Given the description of an element on the screen output the (x, y) to click on. 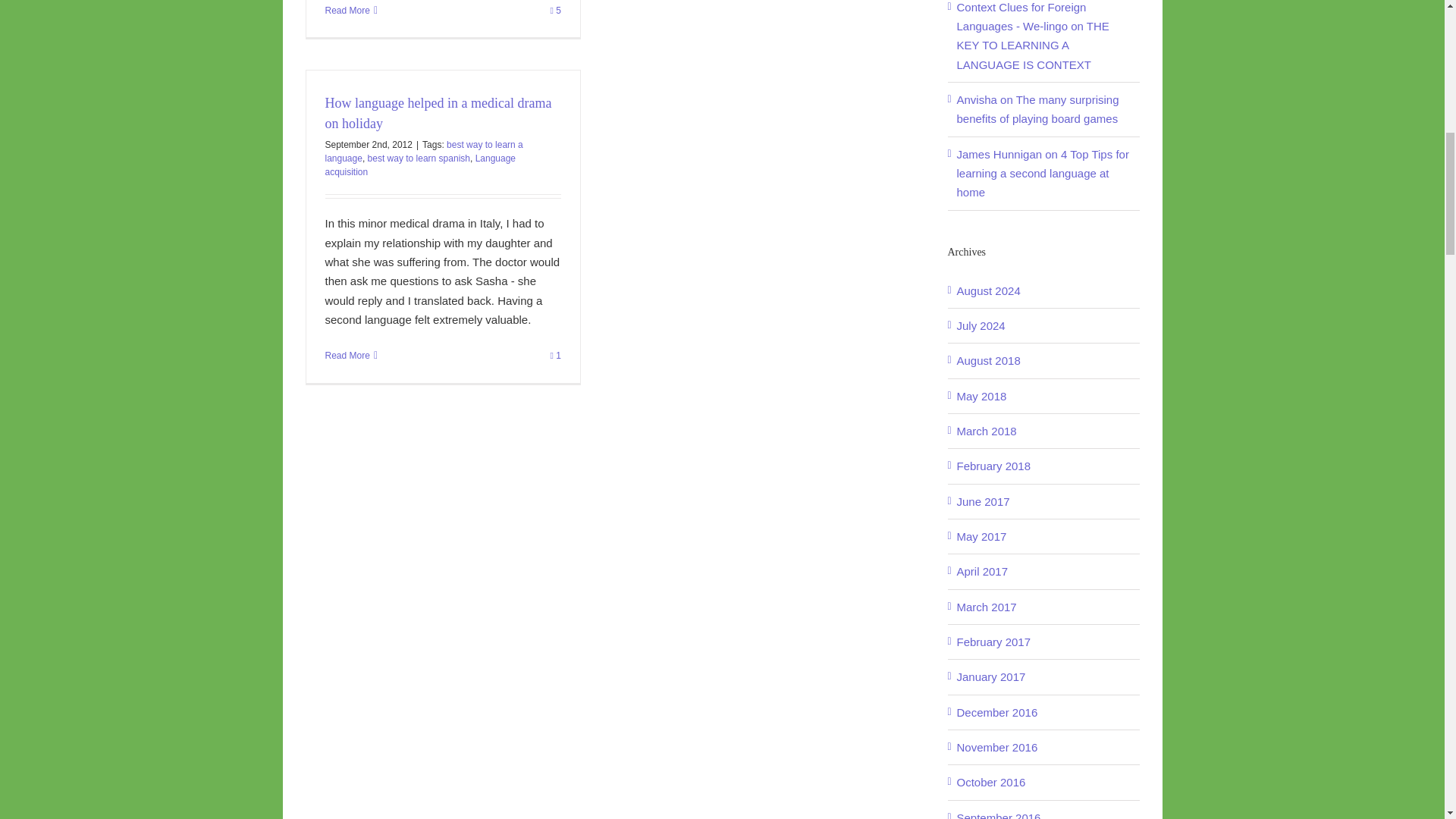
best way to learn spanish (419, 158)
best way to learn a language (423, 151)
 1 (555, 355)
Language acquisition (419, 165)
How language helped in a medical drama on holiday (437, 113)
THE KEY TO LEARNING A LANGUAGE IS CONTEXT (1032, 45)
 5 (555, 9)
Read More (346, 9)
Context Clues for Foreign Languages - We-lingo (1021, 16)
Read More (346, 355)
